Given the description of an element on the screen output the (x, y) to click on. 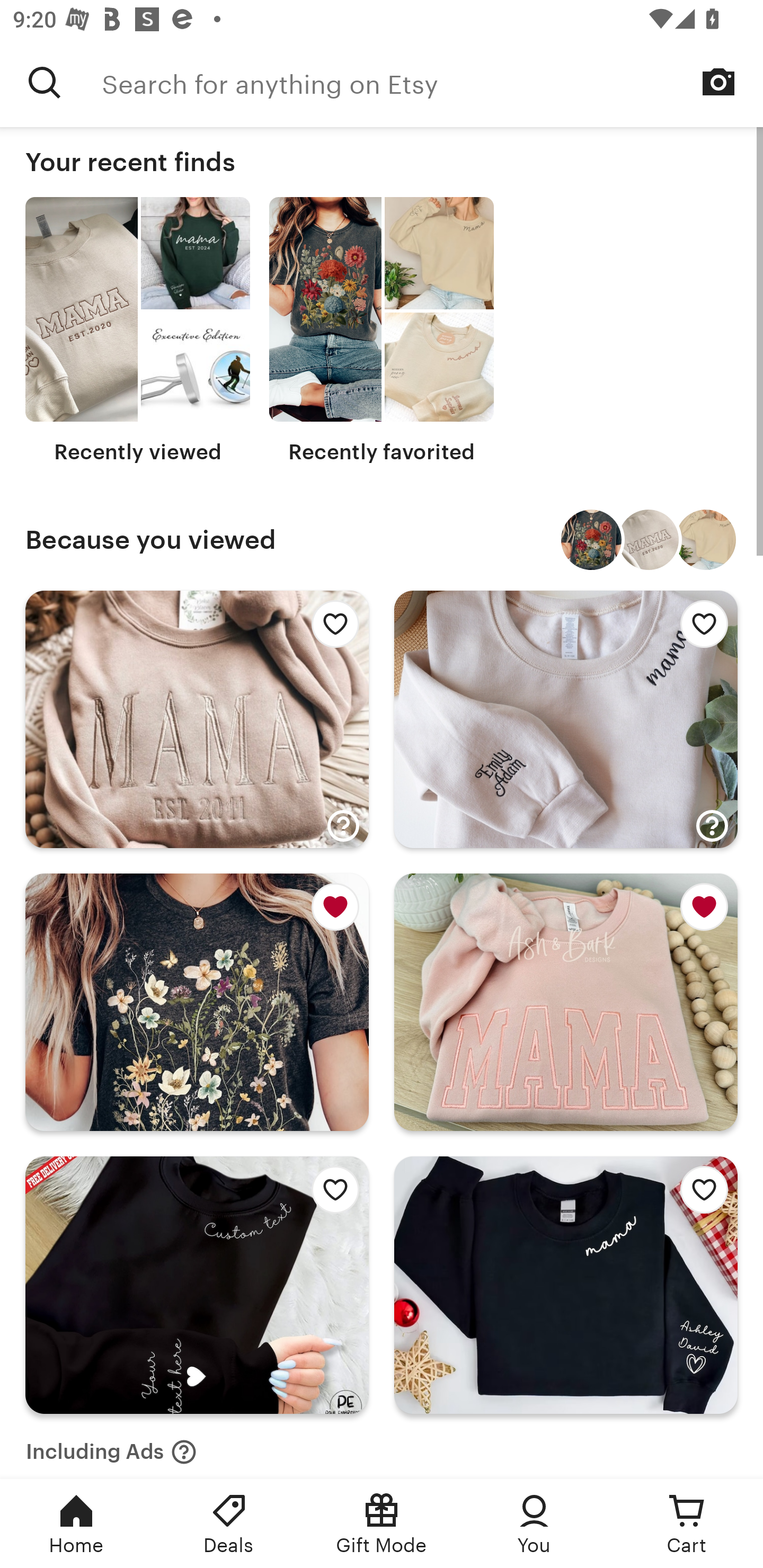
Search for anything on Etsy (44, 82)
Search by image (718, 81)
Search for anything on Etsy (432, 82)
Recently viewed (137, 330)
Recently favorited (381, 330)
Including Ads (111, 1446)
Deals (228, 1523)
Gift Mode (381, 1523)
You (533, 1523)
Cart (686, 1523)
